Given the description of an element on the screen output the (x, y) to click on. 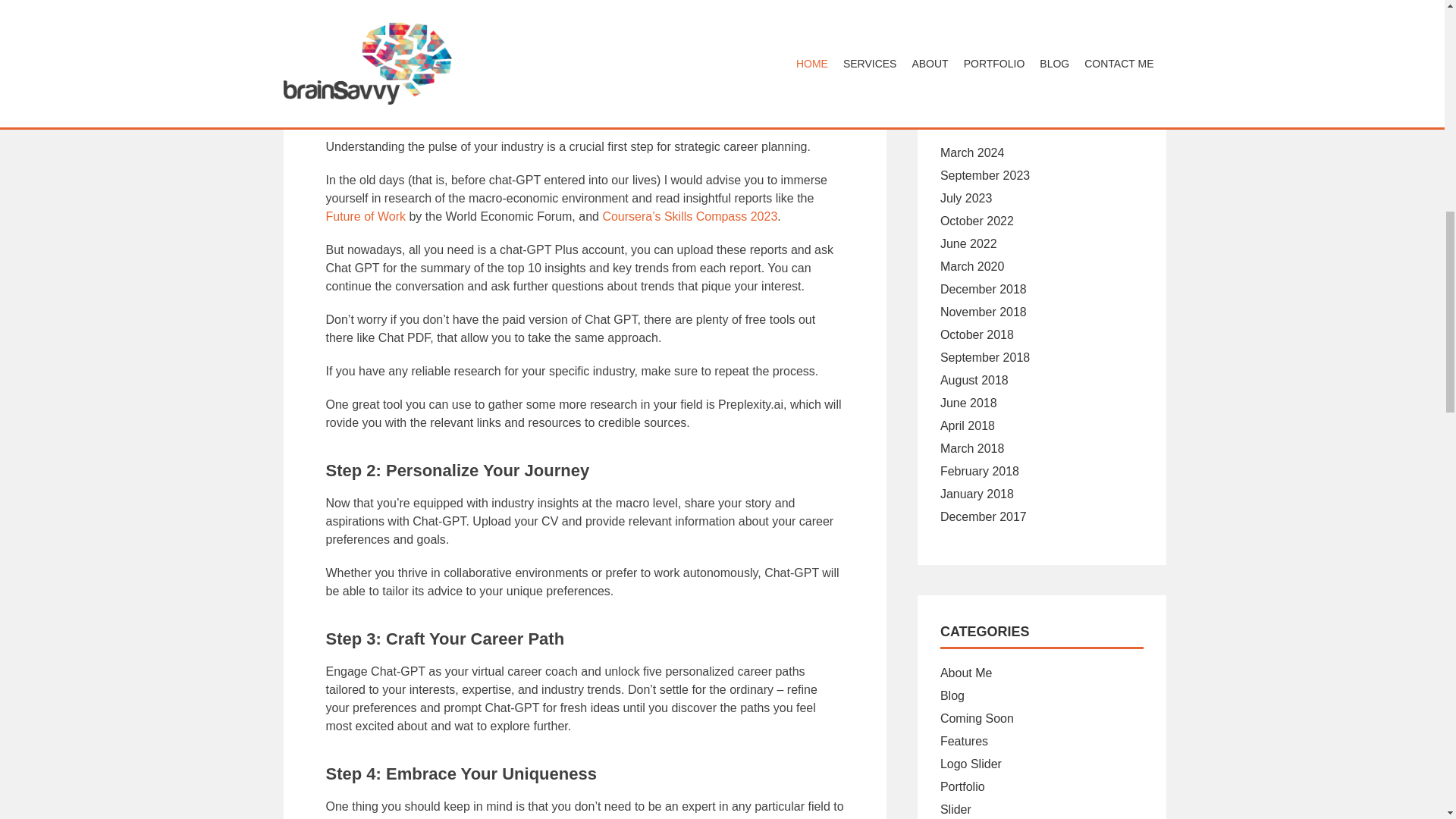
December 2018 (983, 288)
October 2022 (976, 220)
March 2020 (972, 266)
Sometimes All It Takes Is Asking The Right Questions (1039, 2)
July 2023 (966, 197)
Future of Work (366, 215)
November 2018 (983, 311)
June 2018 (968, 402)
October 2018 (976, 334)
June 2022 (968, 243)
